Given the description of an element on the screen output the (x, y) to click on. 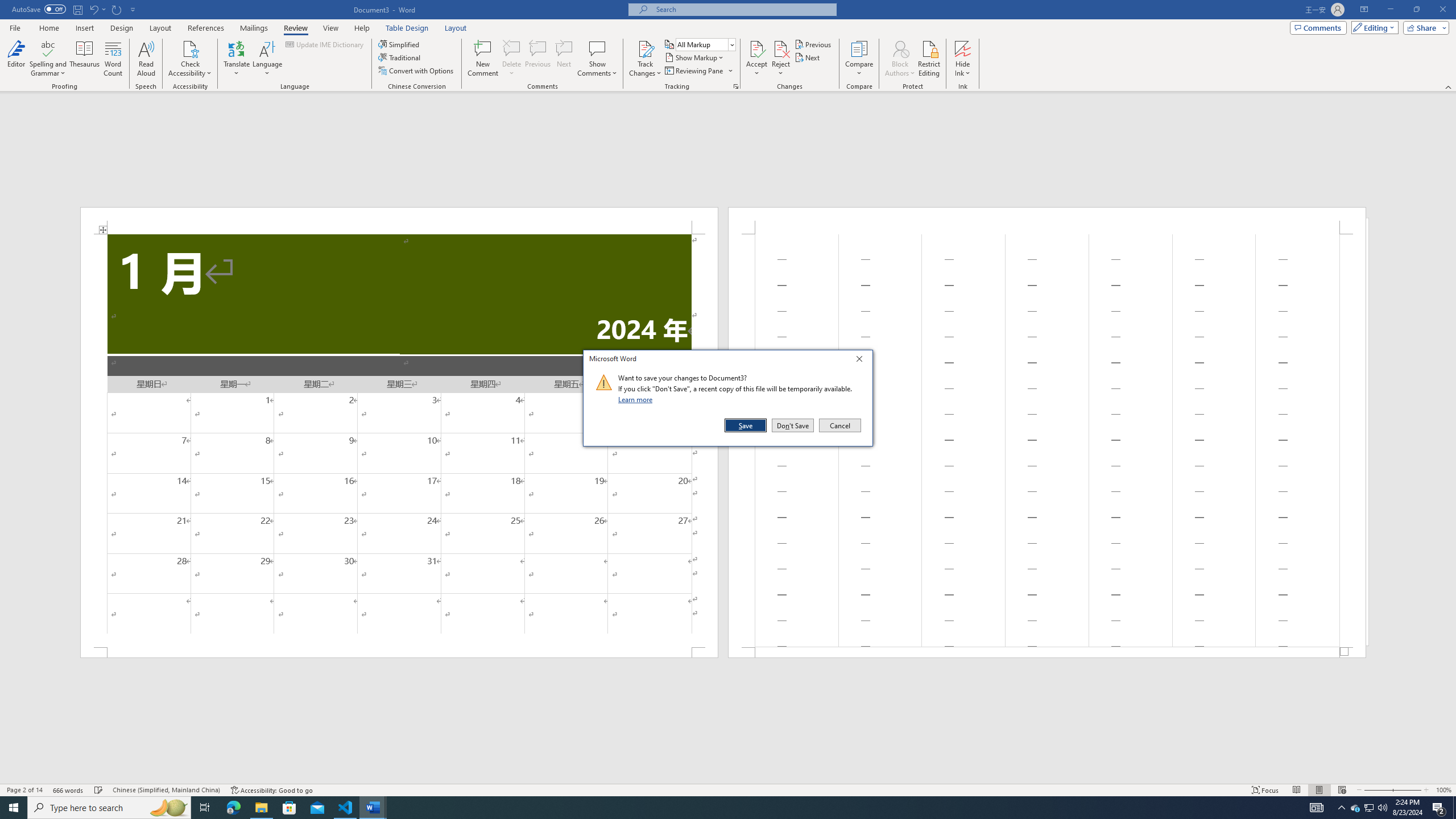
Undo Apply Quick Style (96, 9)
Check Accessibility (189, 58)
Learn more (636, 399)
Accessibility Checker Accessibility: Good to go (271, 790)
Running applications (717, 807)
Microsoft Edge (233, 807)
Spelling and Grammar (48, 58)
Delete (511, 48)
Type here to search (108, 807)
Restrict Editing (929, 58)
Show Comments (597, 48)
